Given the description of an element on the screen output the (x, y) to click on. 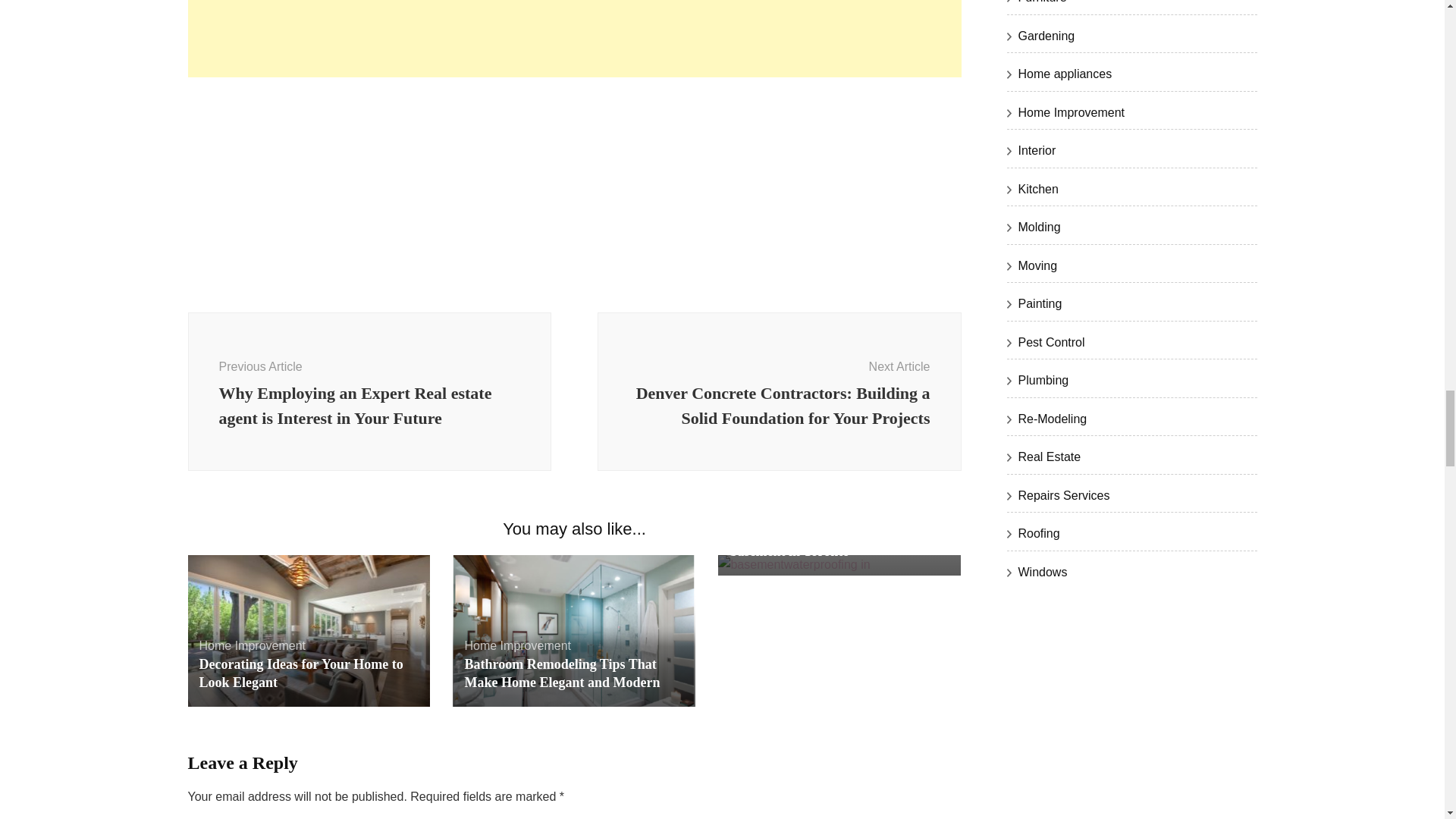
Home Improvement (251, 645)
Decorating Ideas for Your Home to Look Elegant (300, 673)
Home Improvement (517, 645)
